Given the description of an element on the screen output the (x, y) to click on. 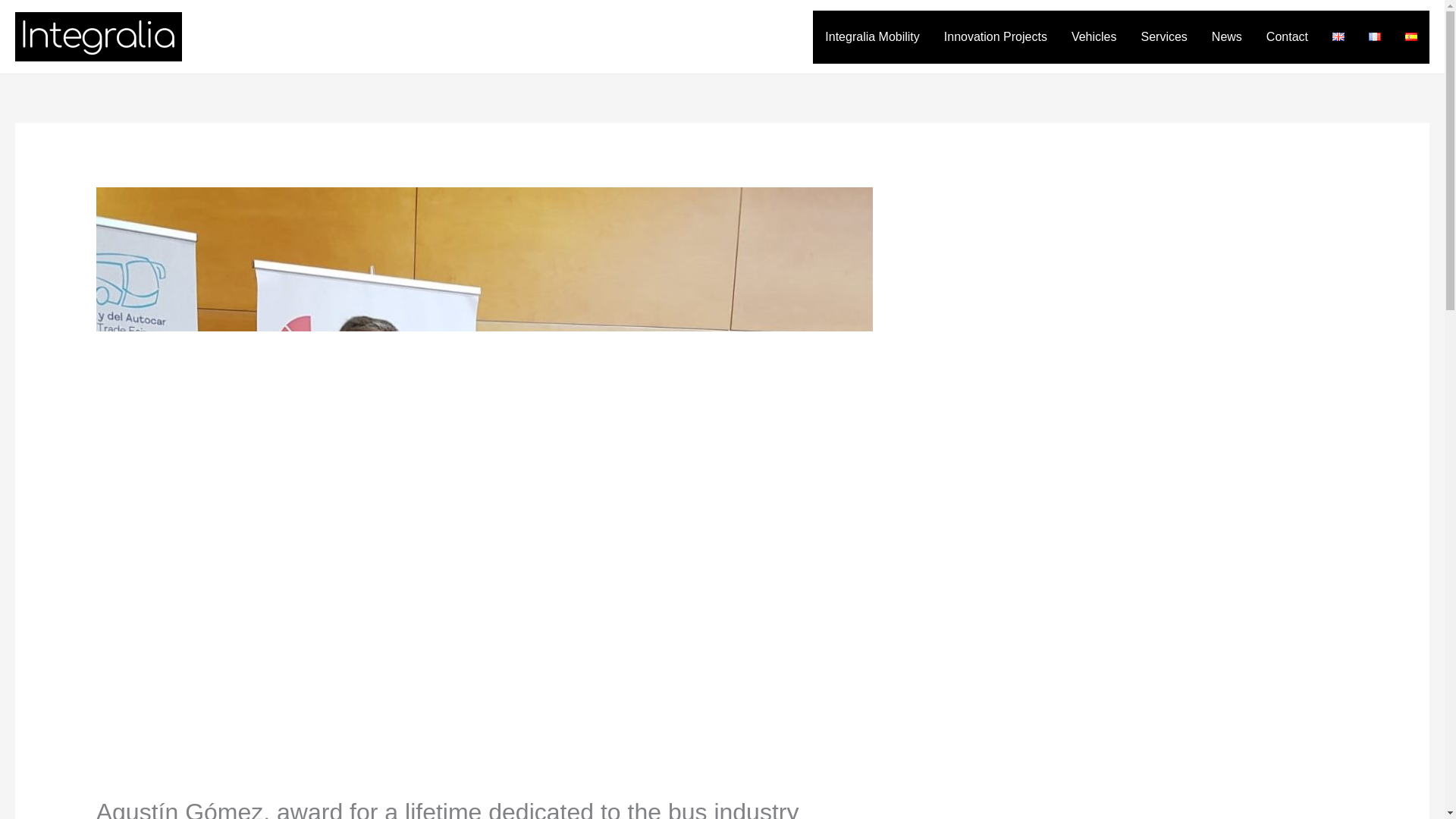
Contact (1286, 36)
Services (1163, 36)
Vehicles (1094, 36)
News (1226, 36)
Innovation Projects (995, 36)
Integralia Mobility (871, 36)
